Given the description of an element on the screen output the (x, y) to click on. 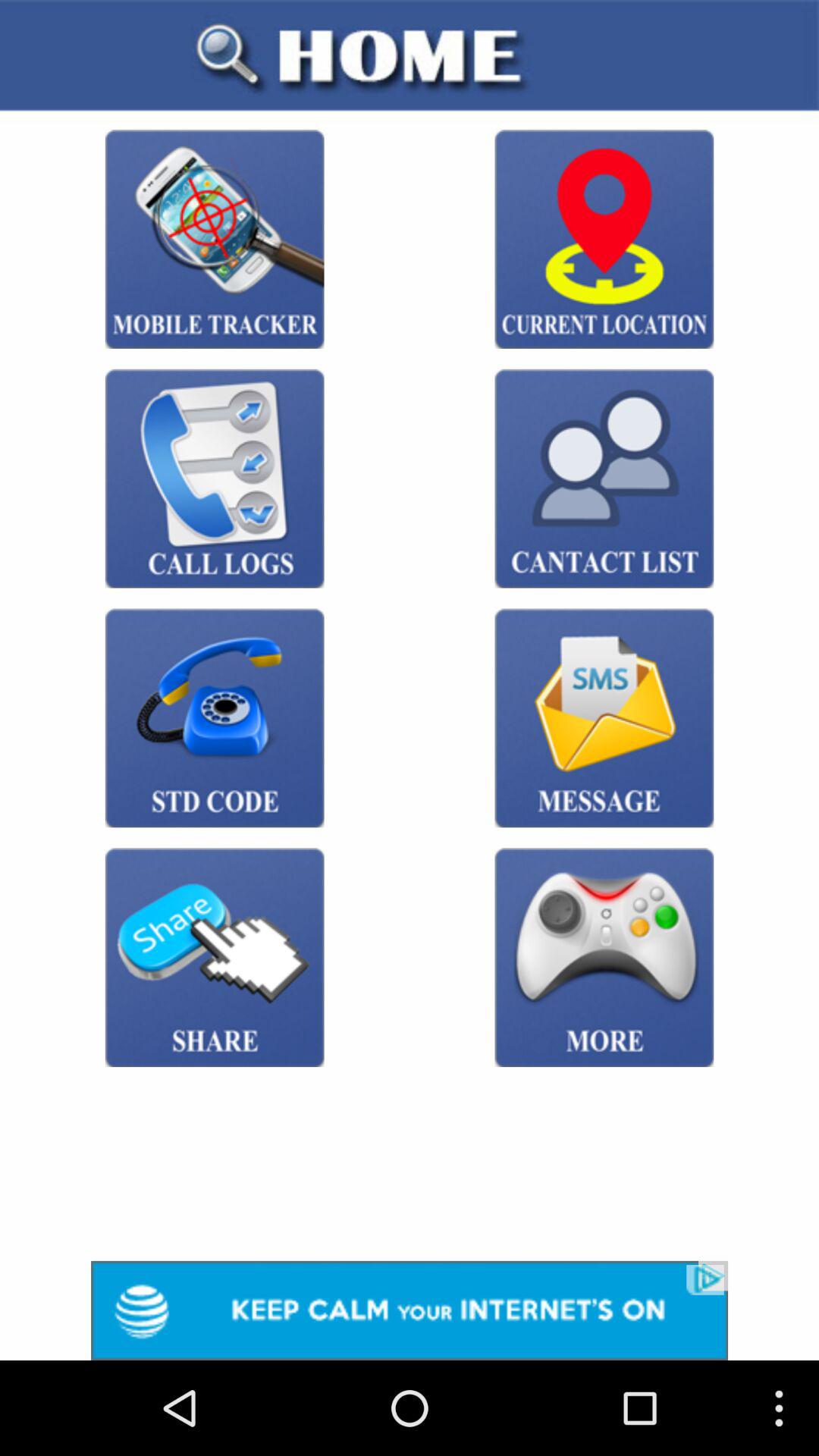
view advertisement (409, 1310)
